Given the description of an element on the screen output the (x, y) to click on. 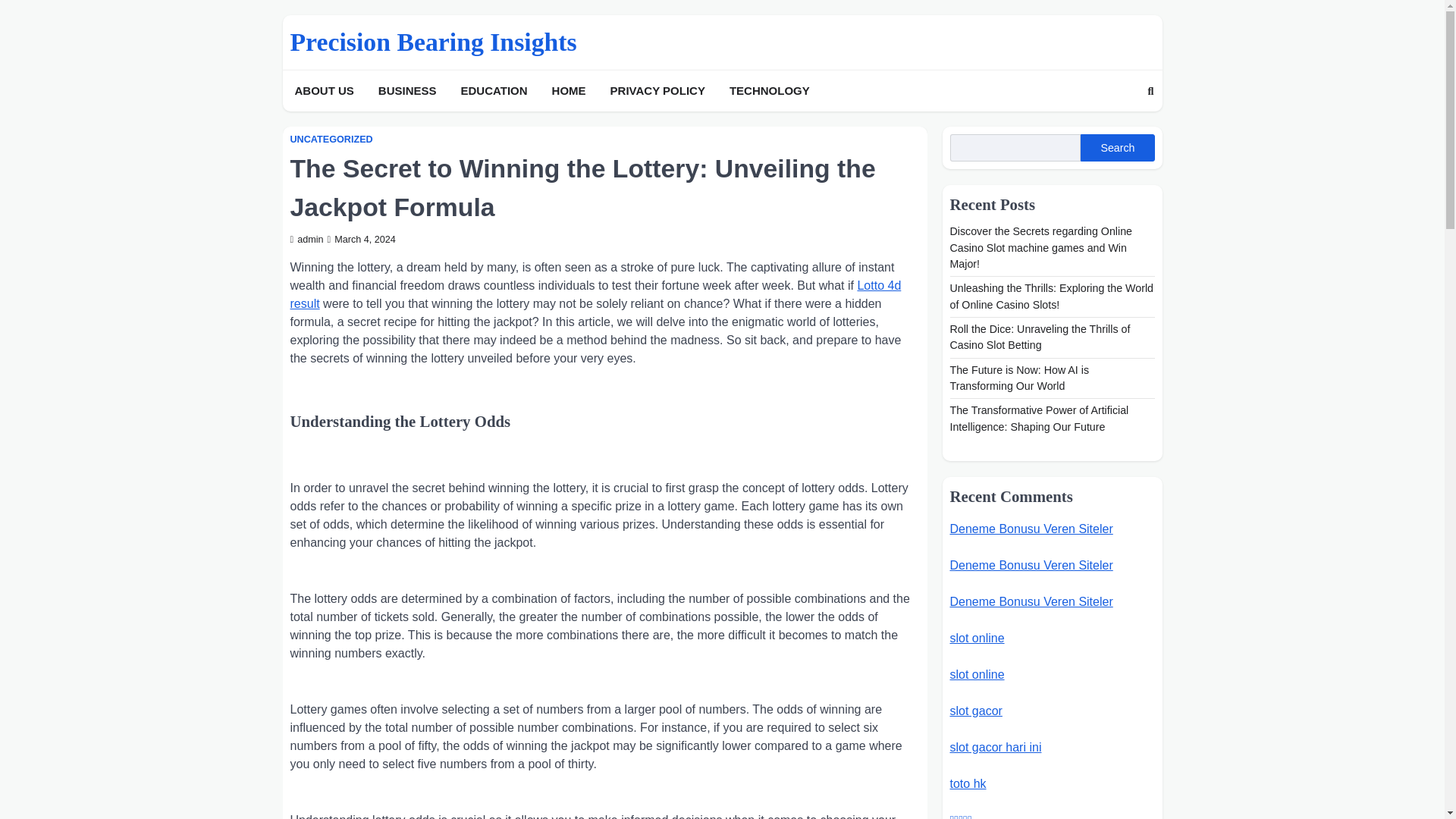
Search (1117, 147)
March 4, 2024 (361, 239)
Search (1122, 126)
HOME (569, 90)
admin (306, 239)
EDUCATION (494, 90)
PRIVACY POLICY (657, 90)
Roll the Dice: Unraveling the Thrills of Casino Slot Betting (1039, 336)
The Future is Now: How AI is Transforming Our World (1019, 377)
slot online (976, 637)
Deneme Bonusu Veren Siteler (1030, 528)
Lotto 4d result (595, 294)
Deneme Bonusu Veren Siteler (1030, 564)
Search (1149, 90)
Precision Bearing Insights (432, 41)
